Given the description of an element on the screen output the (x, y) to click on. 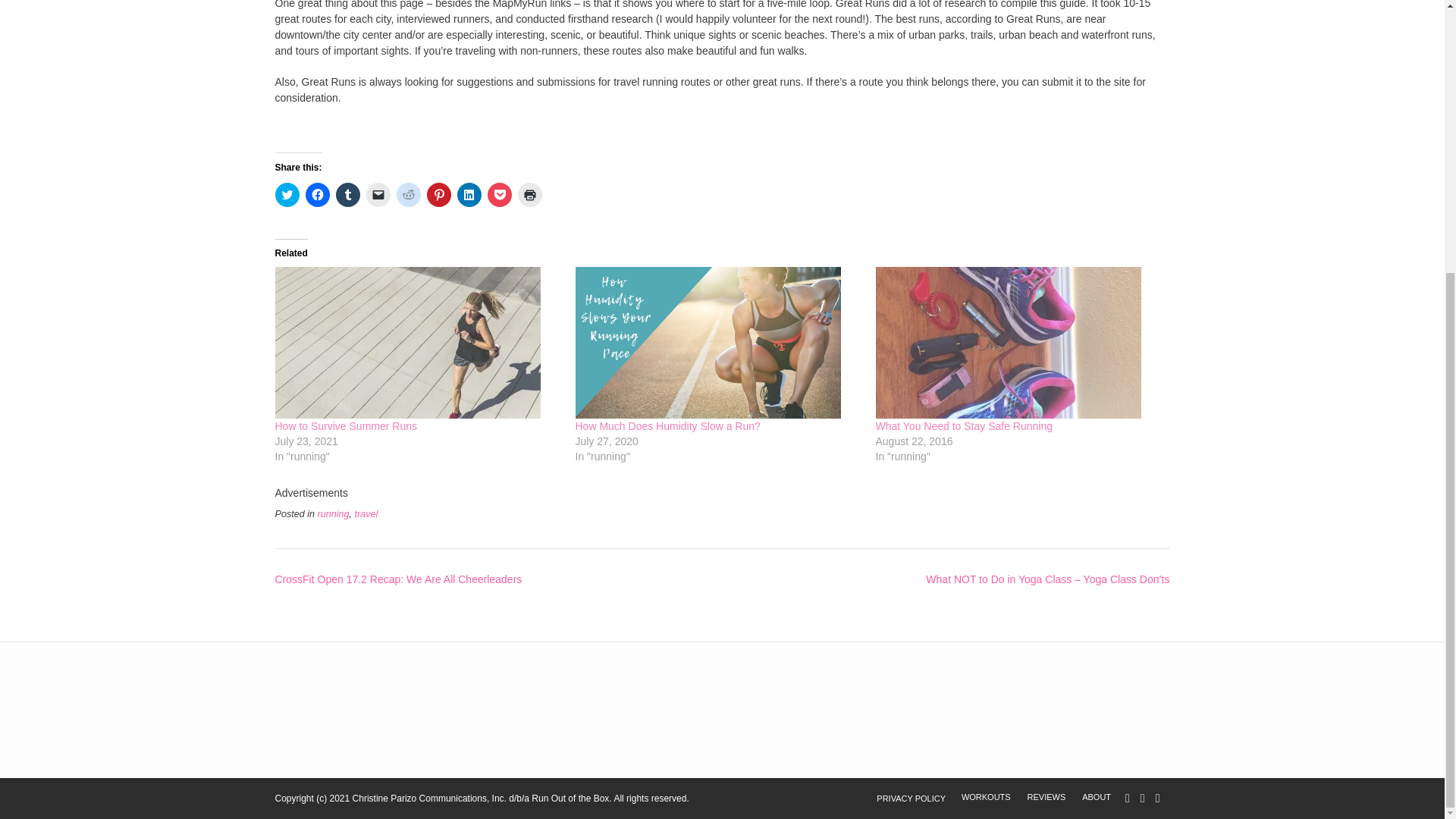
How Much Does Humidity Slow a Run? (667, 426)
Click to print (528, 194)
travel (366, 513)
Click to share on LinkedIn (468, 194)
How Much Does Humidity Slow a Run? (717, 342)
CrossFit Open 17.2 Recap: We Are All Cheerleaders (398, 579)
Click to share on Tumblr (346, 194)
How to Survive Summer Runs (417, 342)
What You Need to Stay Safe Running (963, 426)
REVIEWS (1046, 797)
